Given the description of an element on the screen output the (x, y) to click on. 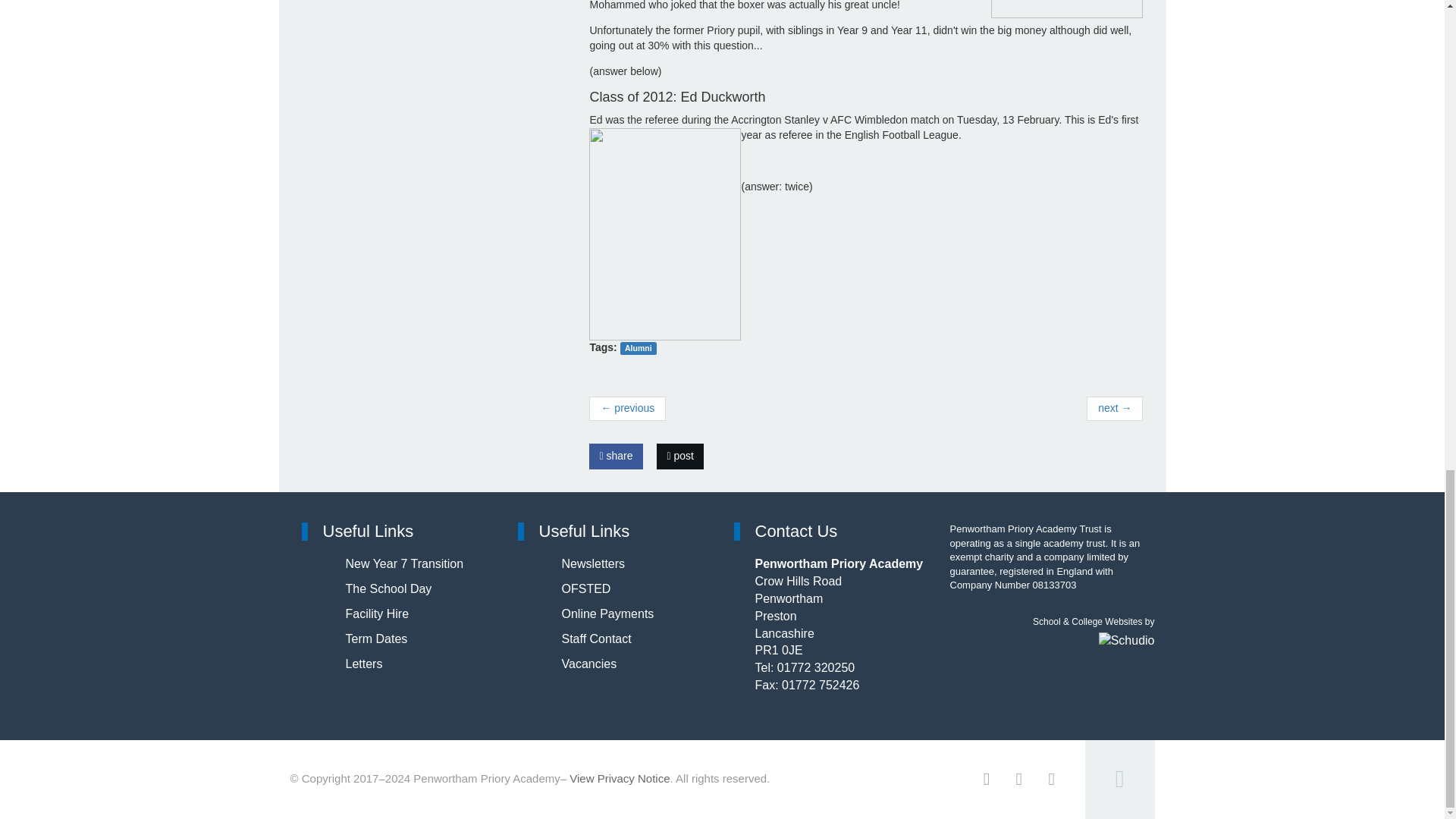
New Year 7 Transition (405, 563)
share (615, 456)
post (679, 456)
Alumni (638, 348)
Mrs Elliott's cool reader's club - Jess (627, 408)
Share on Facebook (615, 456)
Post on X (679, 456)
